Given the description of an element on the screen output the (x, y) to click on. 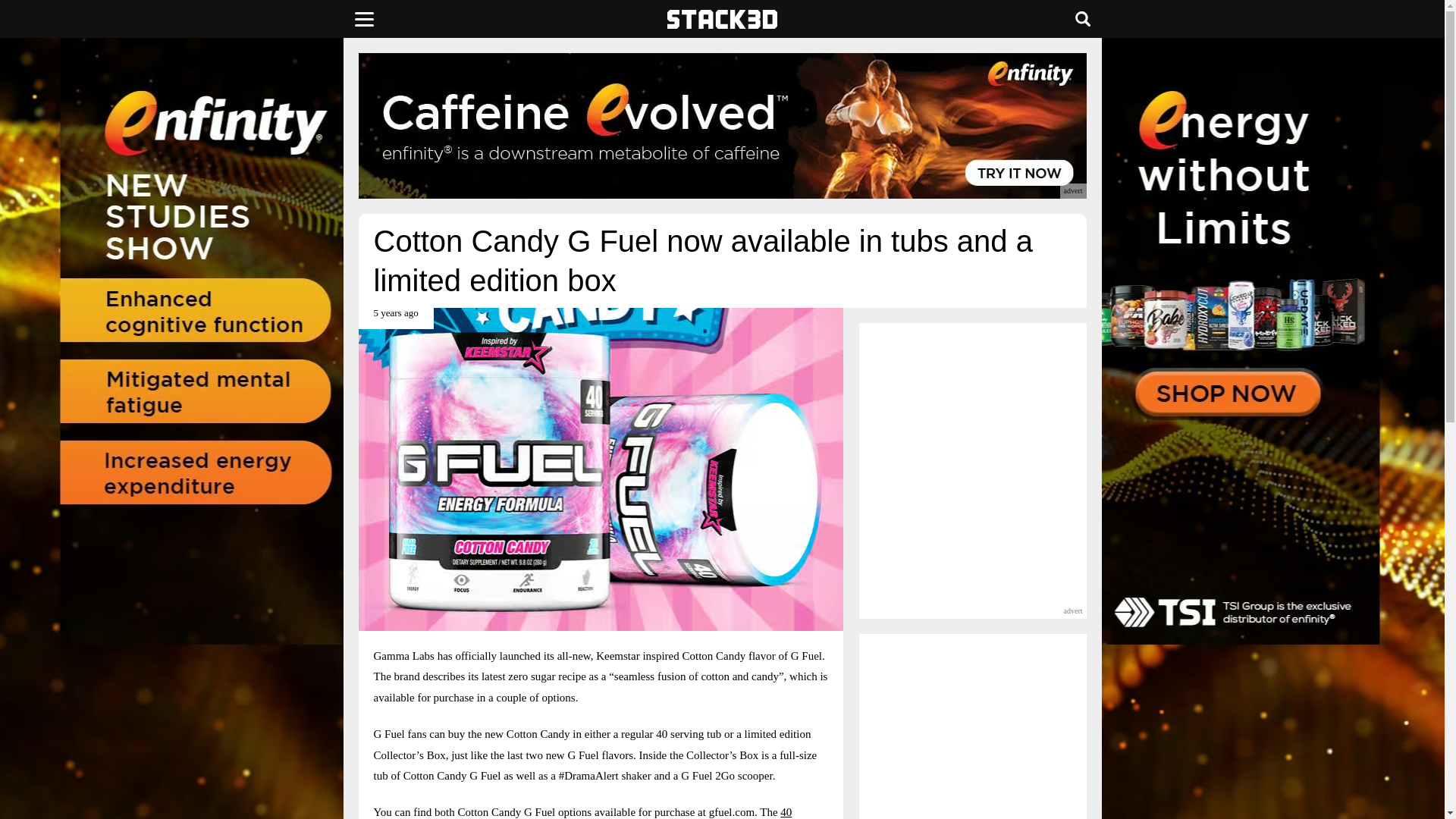
40 serving tub (582, 812)
September 3rd 2018 (395, 318)
